Given the description of an element on the screen output the (x, y) to click on. 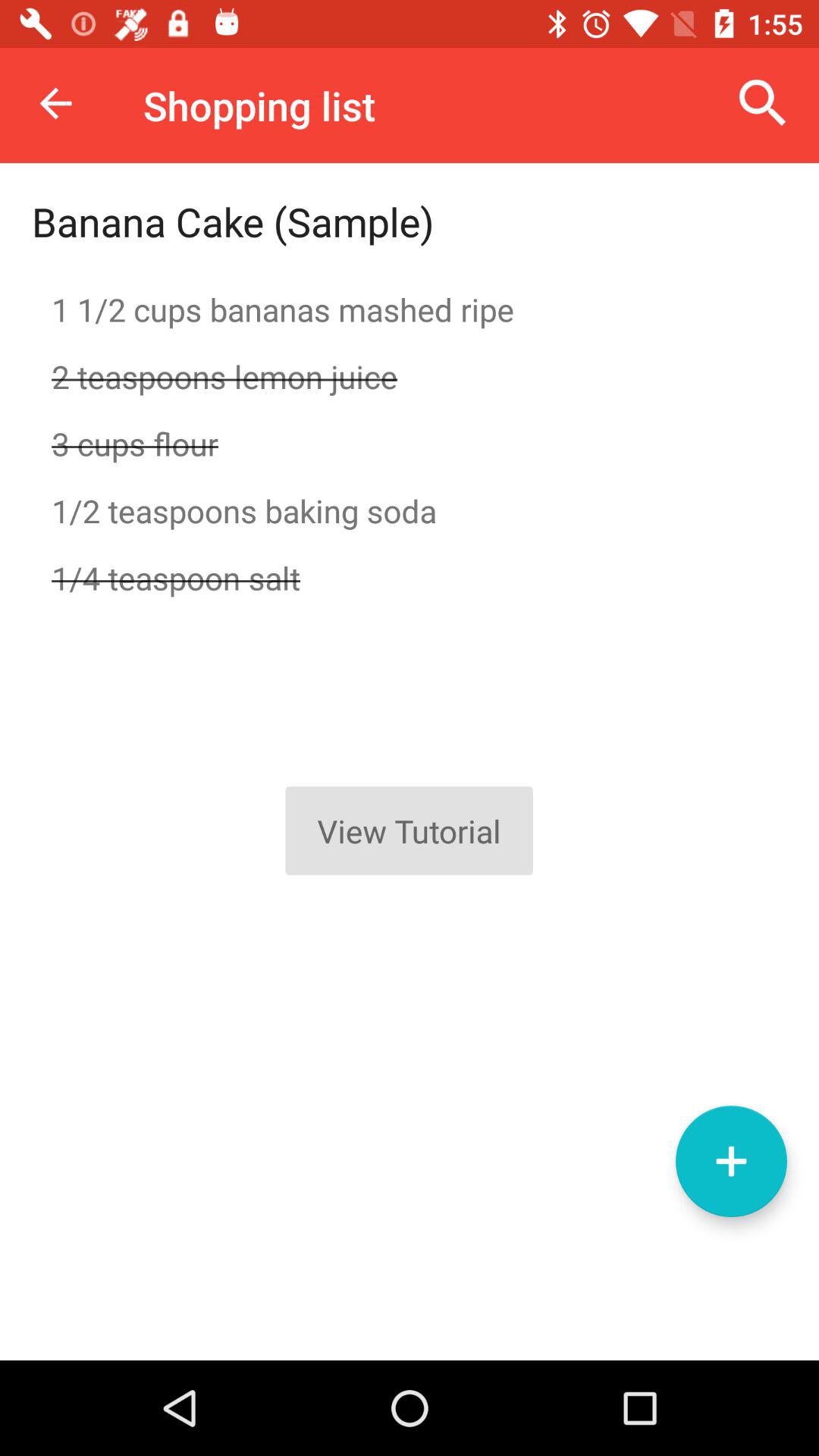
etc (731, 1161)
